Given the description of an element on the screen output the (x, y) to click on. 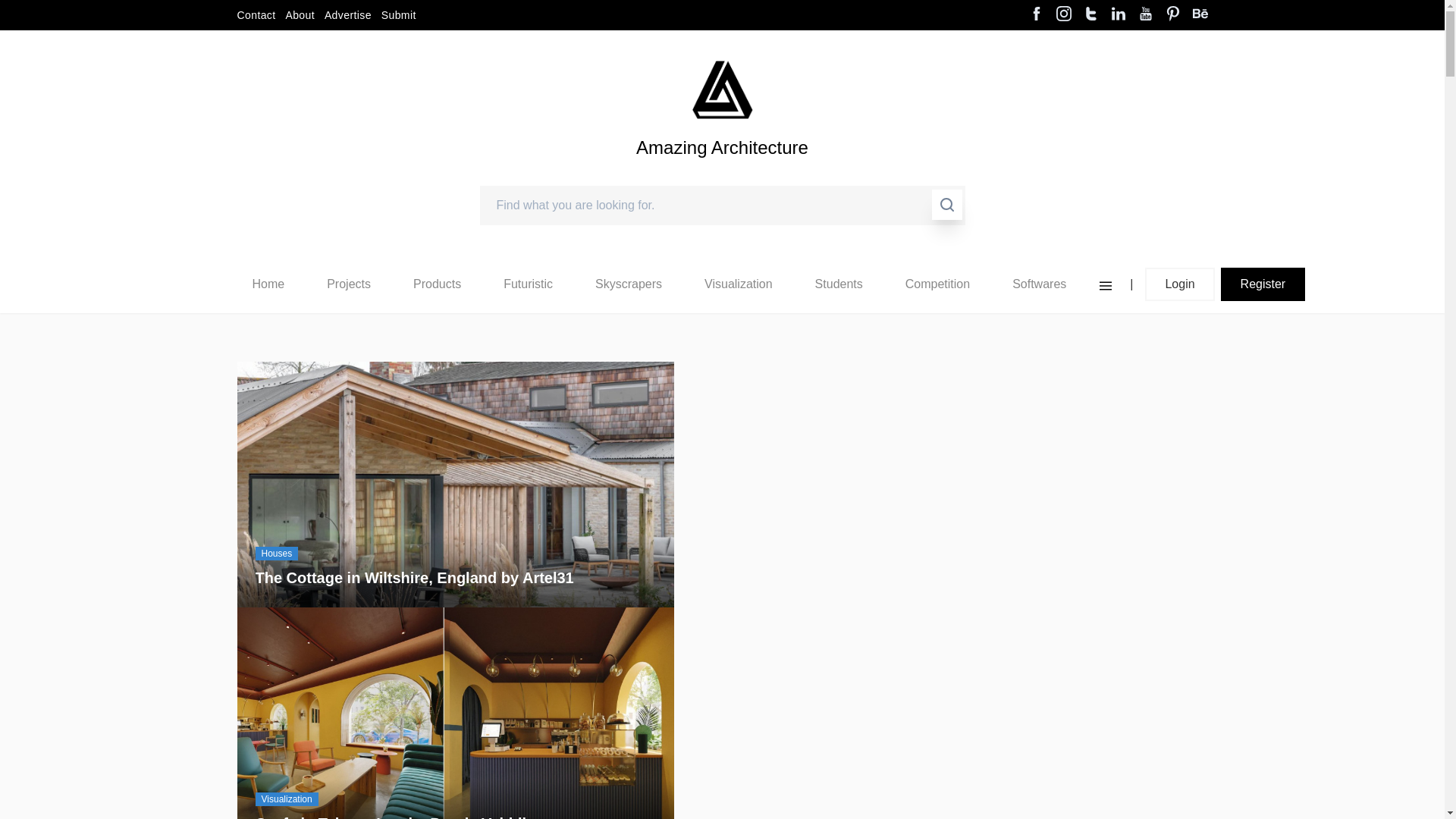
About us page (299, 15)
Futuristic (528, 283)
Projects (348, 284)
Amazing Architecture (722, 173)
Contact us page (255, 15)
Home (267, 283)
Projects (348, 283)
Home (267, 283)
Advertisement page (347, 15)
Home (267, 284)
